Given the description of an element on the screen output the (x, y) to click on. 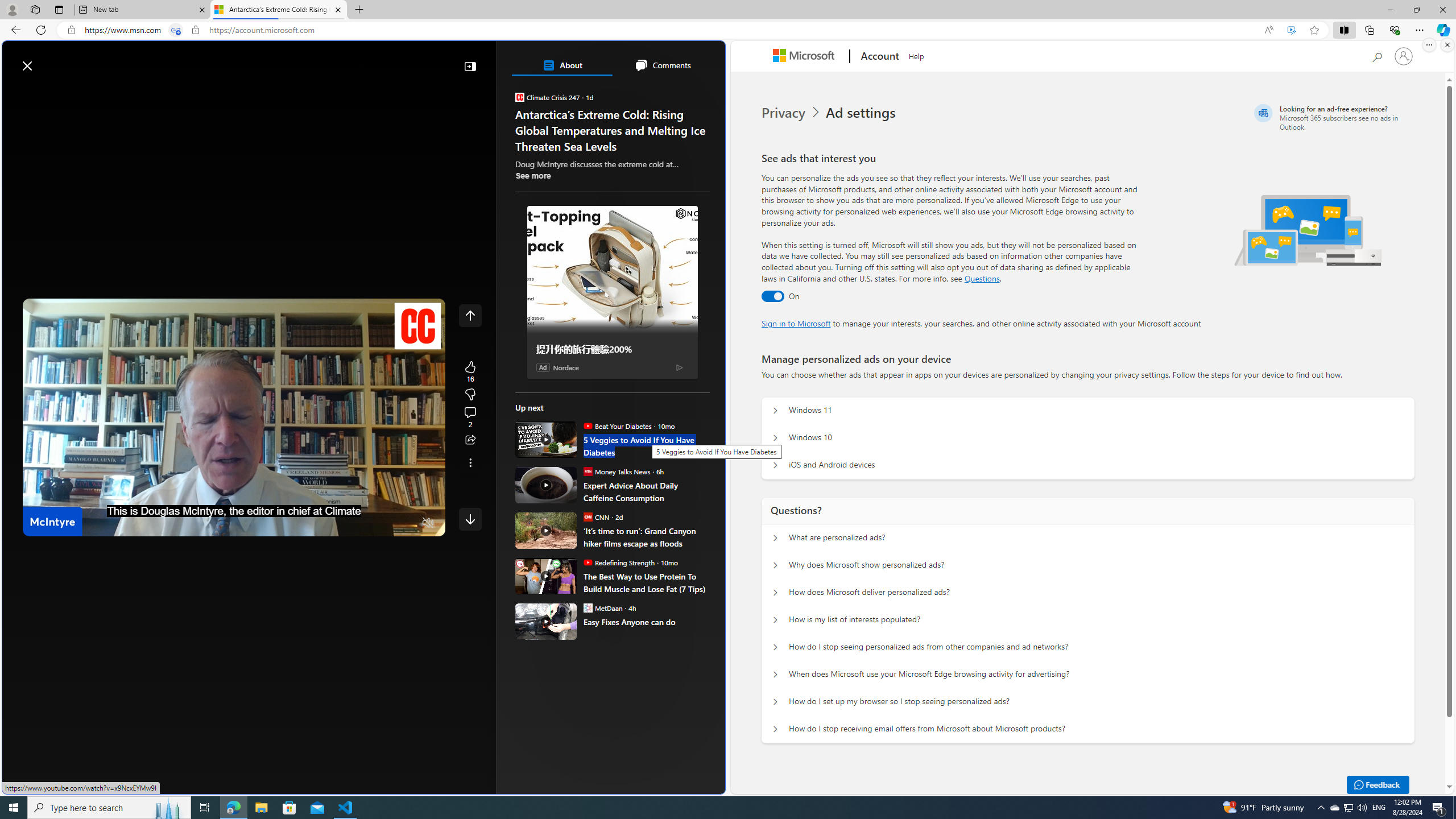
Class: control icon-only (469, 315)
Illustration of multiple devices (1308, 229)
Microsoft (805, 56)
Collapse (469, 65)
Go to Questions section (981, 278)
